Given the description of an element on the screen output the (x, y) to click on. 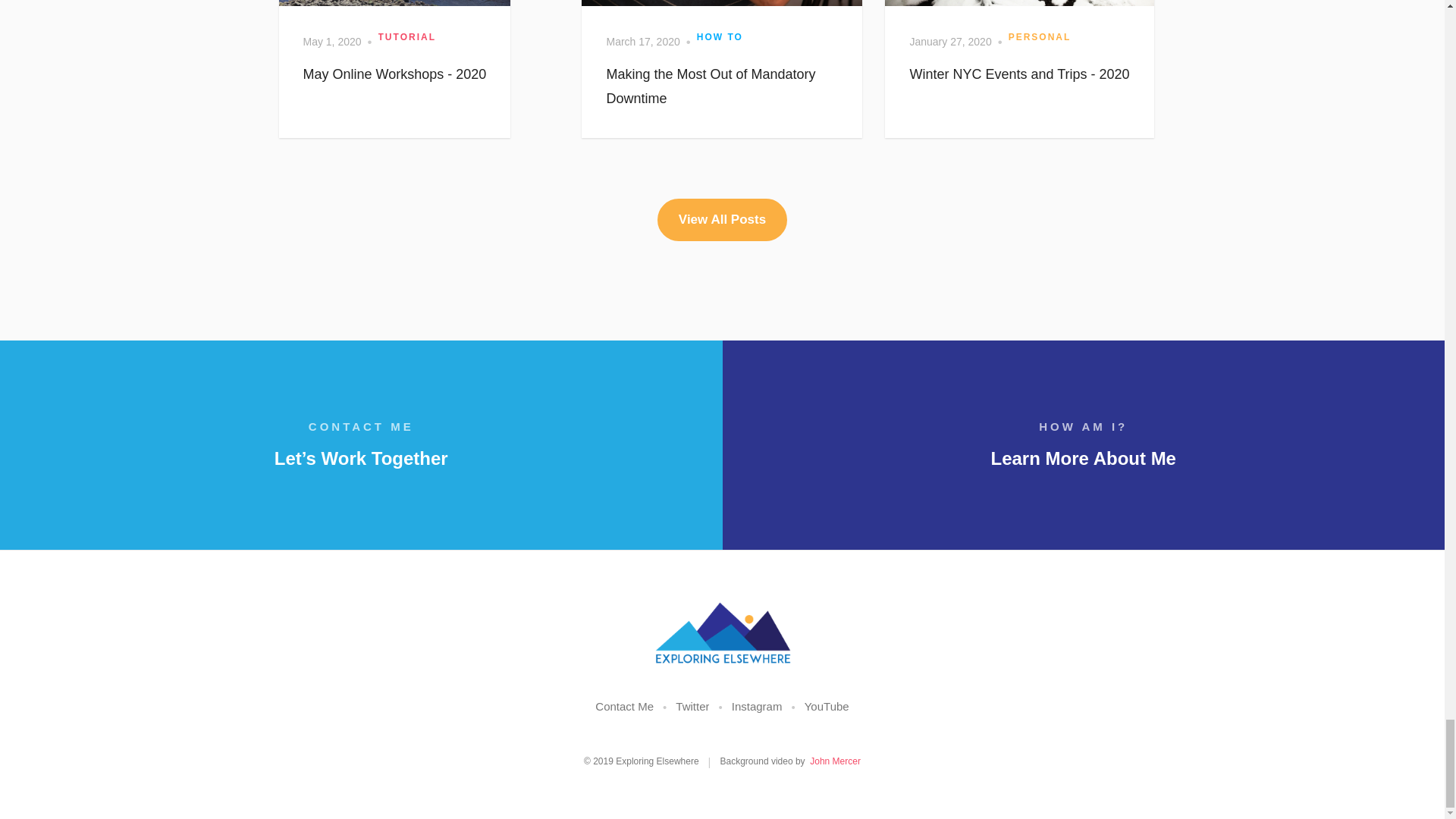
John Mercer (834, 760)
Twitter (692, 706)
YouTube (826, 706)
Contact Me (624, 706)
View All Posts (722, 219)
Instagram (757, 706)
